Given the description of an element on the screen output the (x, y) to click on. 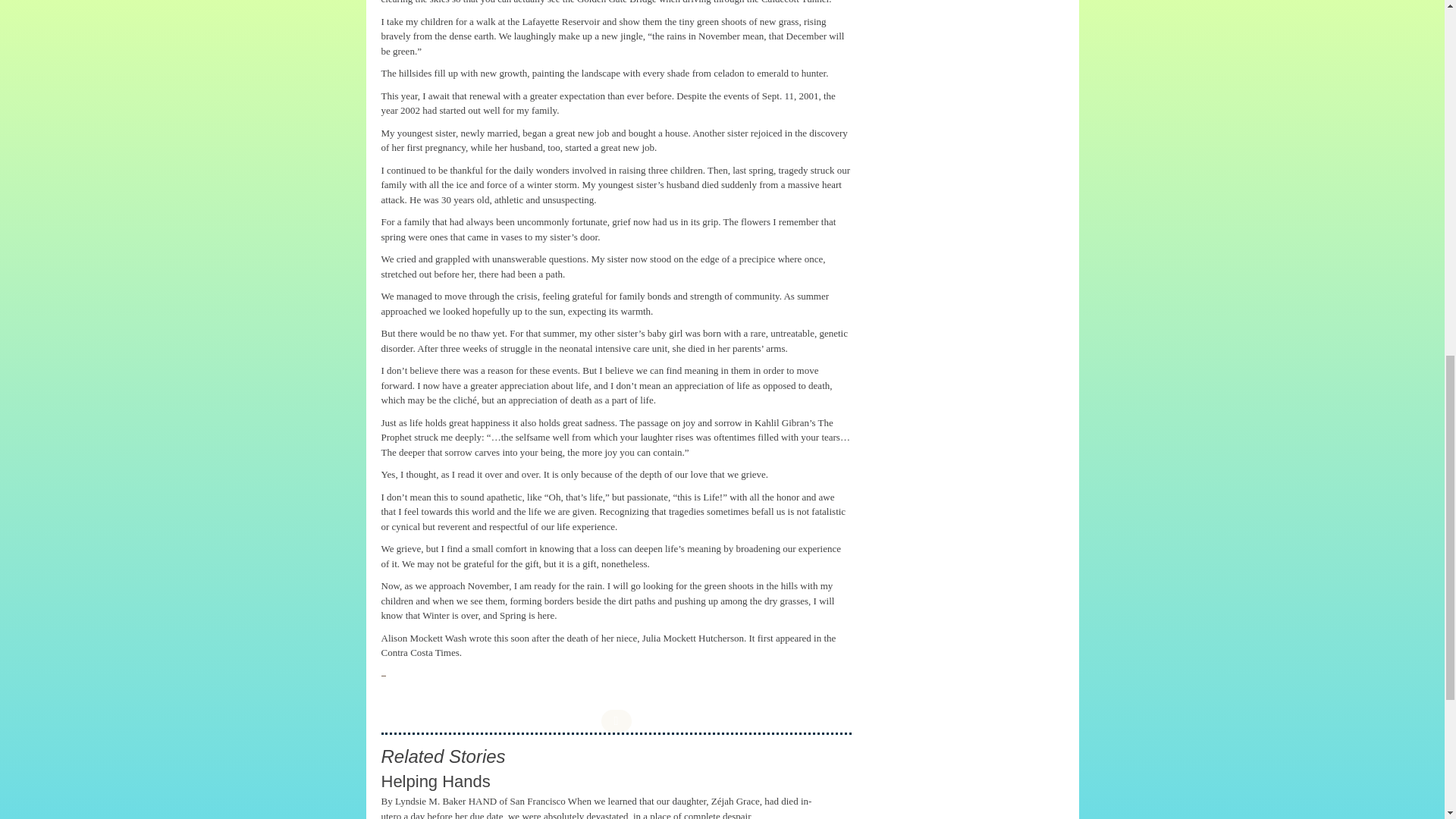
Helping Hands (434, 781)
Helping Hands (434, 781)
